Given the description of an element on the screen output the (x, y) to click on. 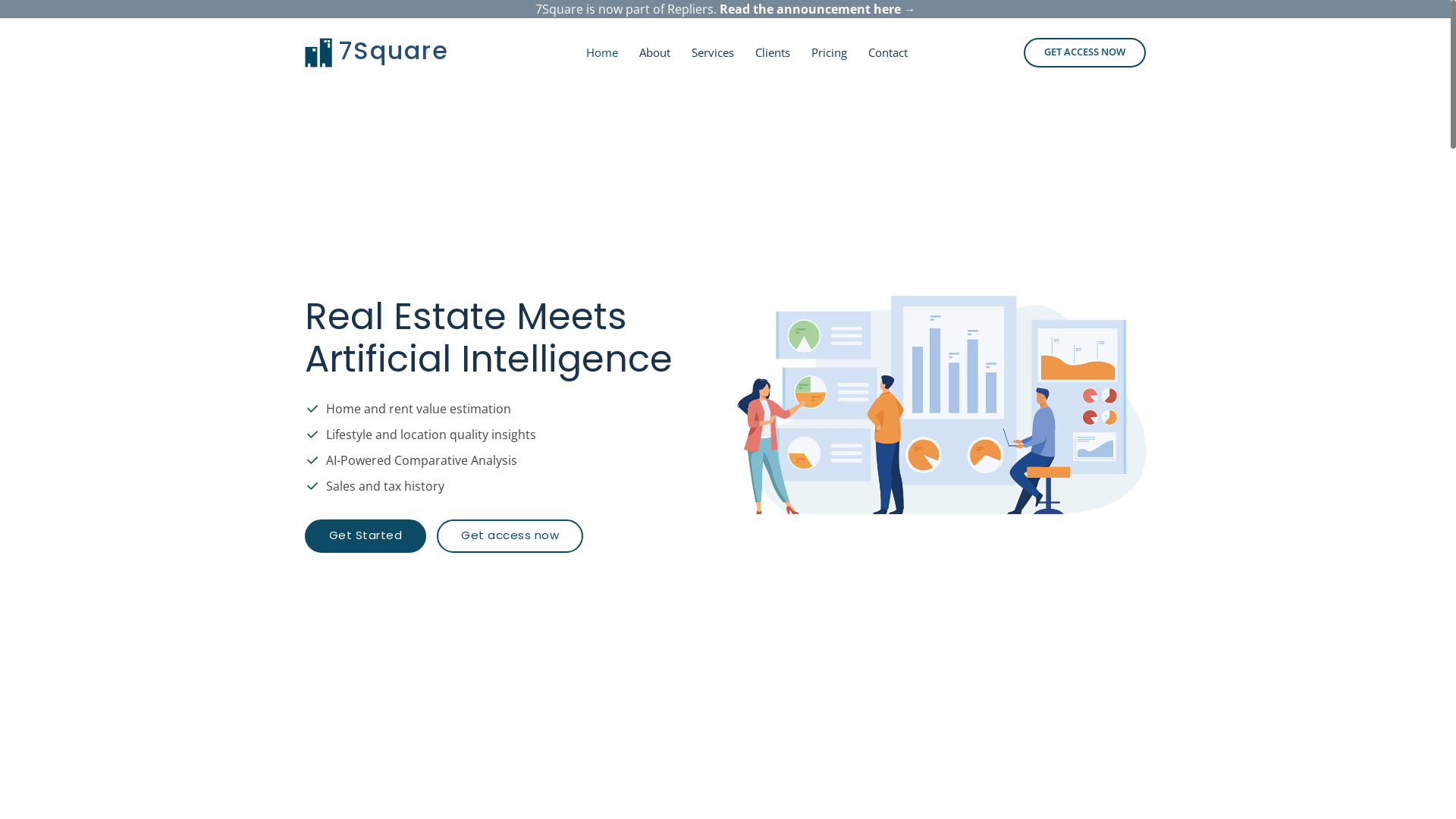
7Square Element type: text (393, 50)
Repliers Element type: text (690, 8)
About Element type: text (654, 52)
Contact Element type: text (887, 52)
Home Element type: text (602, 52)
Clients Element type: text (772, 52)
Services Element type: text (712, 52)
GET ACCESS NOW Element type: text (1084, 52)
Get Started Element type: text (365, 535)
Get access now Element type: text (509, 535)
Pricing Element type: text (829, 52)
